Given the description of an element on the screen output the (x, y) to click on. 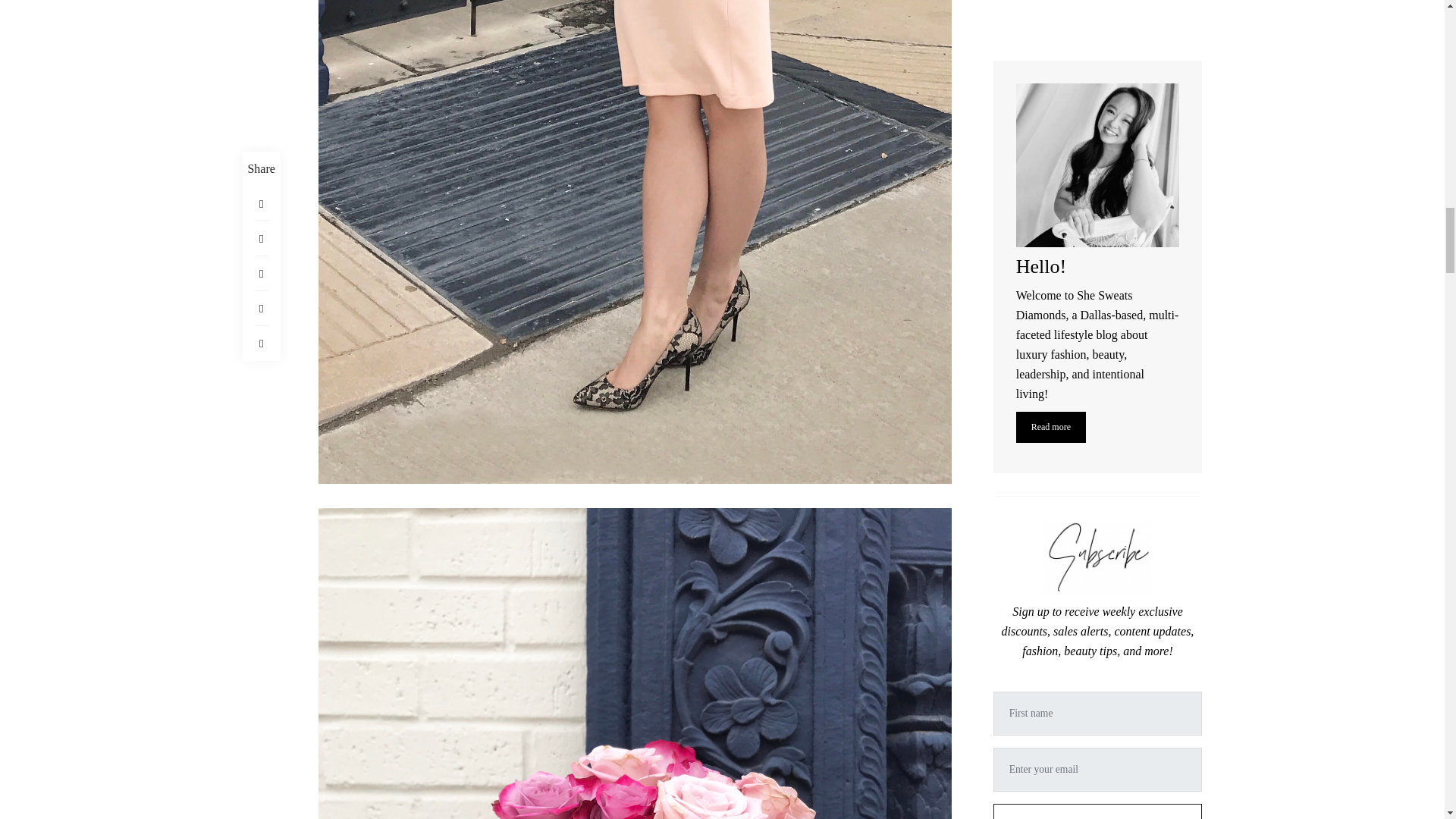
How I Deal With My Stress and Anxiety (1139, 768)
